Given the description of an element on the screen output the (x, y) to click on. 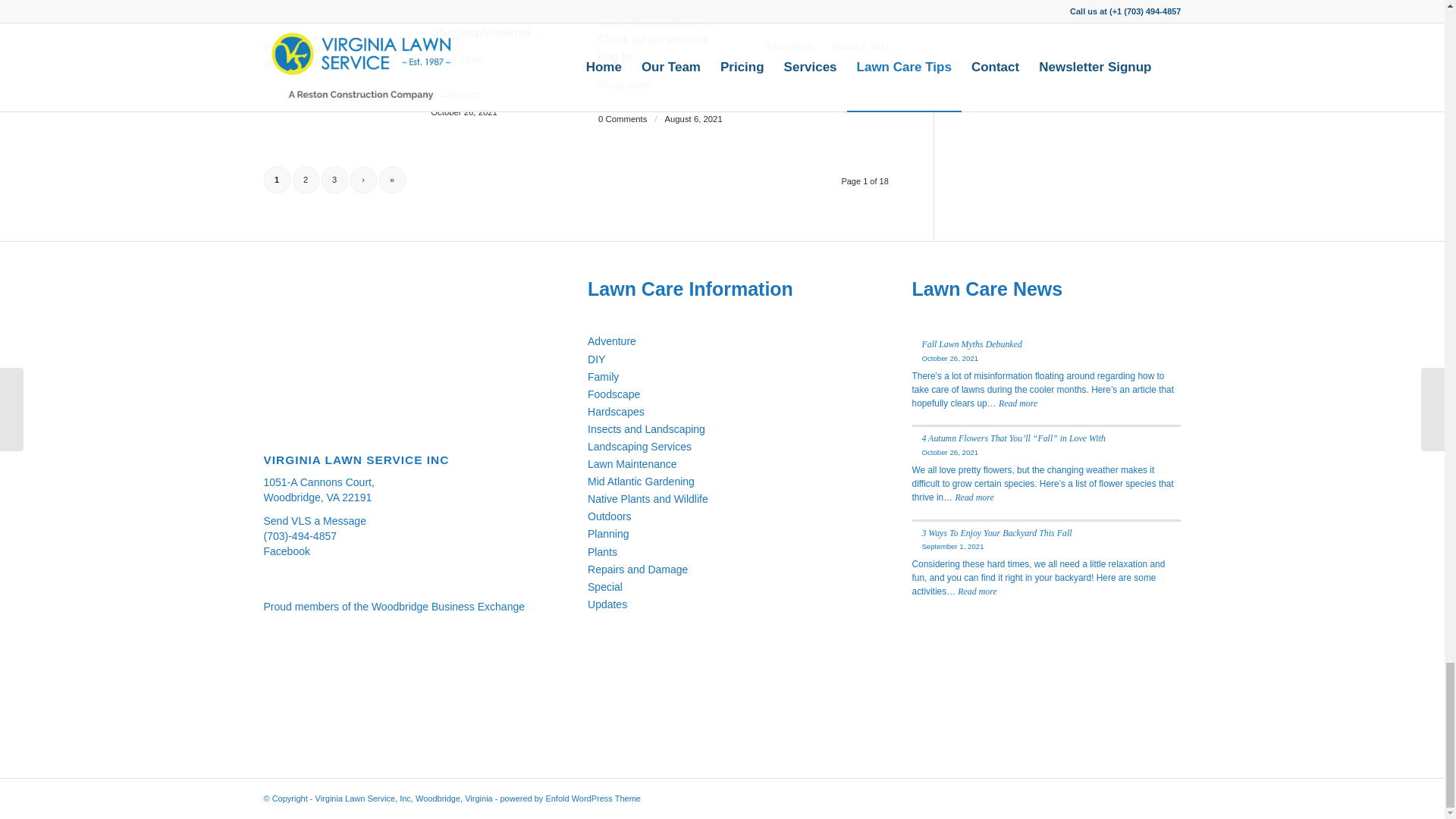
Read more (463, 59)
Read more (297, 12)
0 Comments (288, 45)
